Given the description of an element on the screen output the (x, y) to click on. 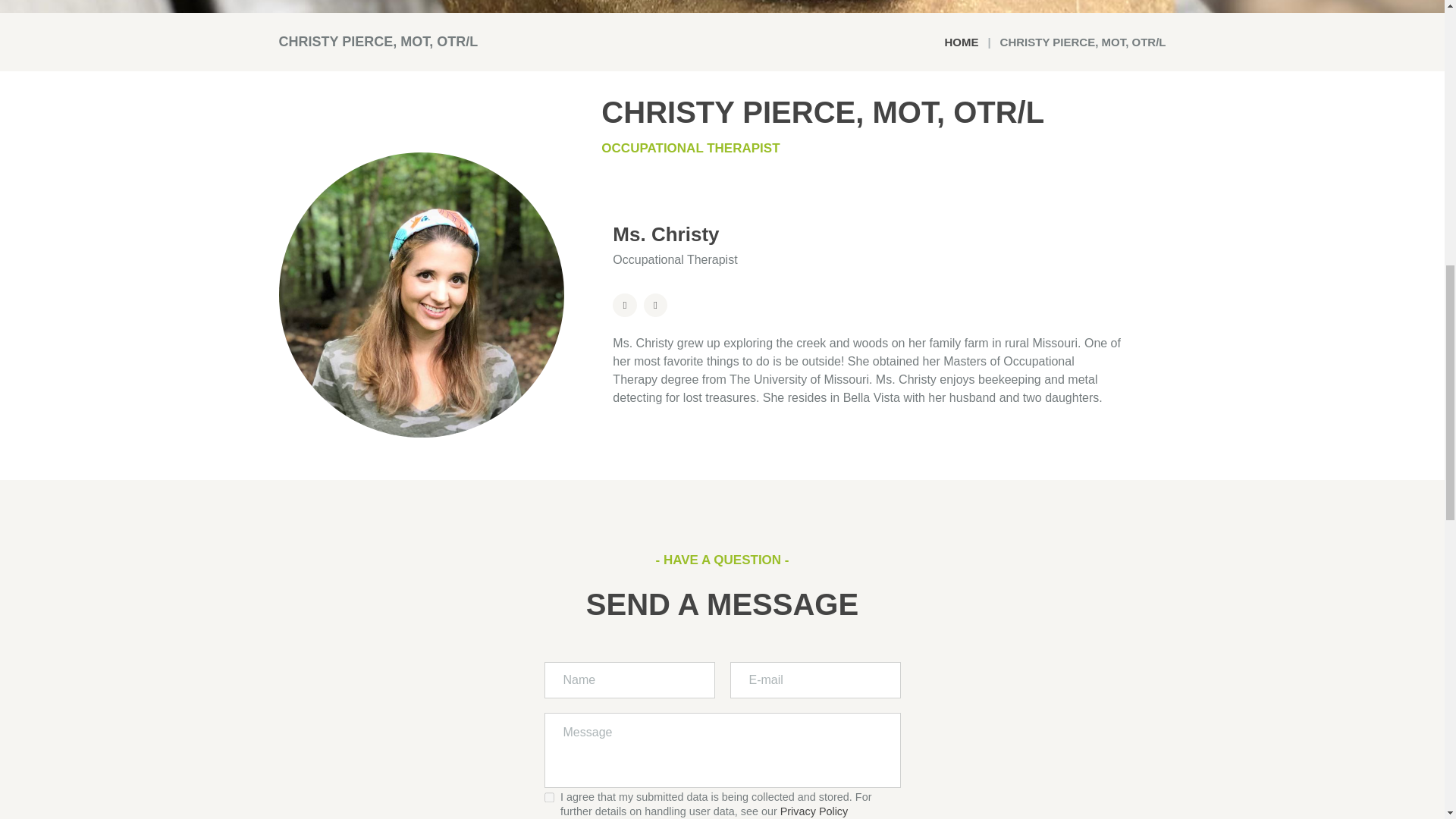
1 (549, 797)
HOME (960, 42)
Privacy Policy (814, 811)
